Given the description of an element on the screen output the (x, y) to click on. 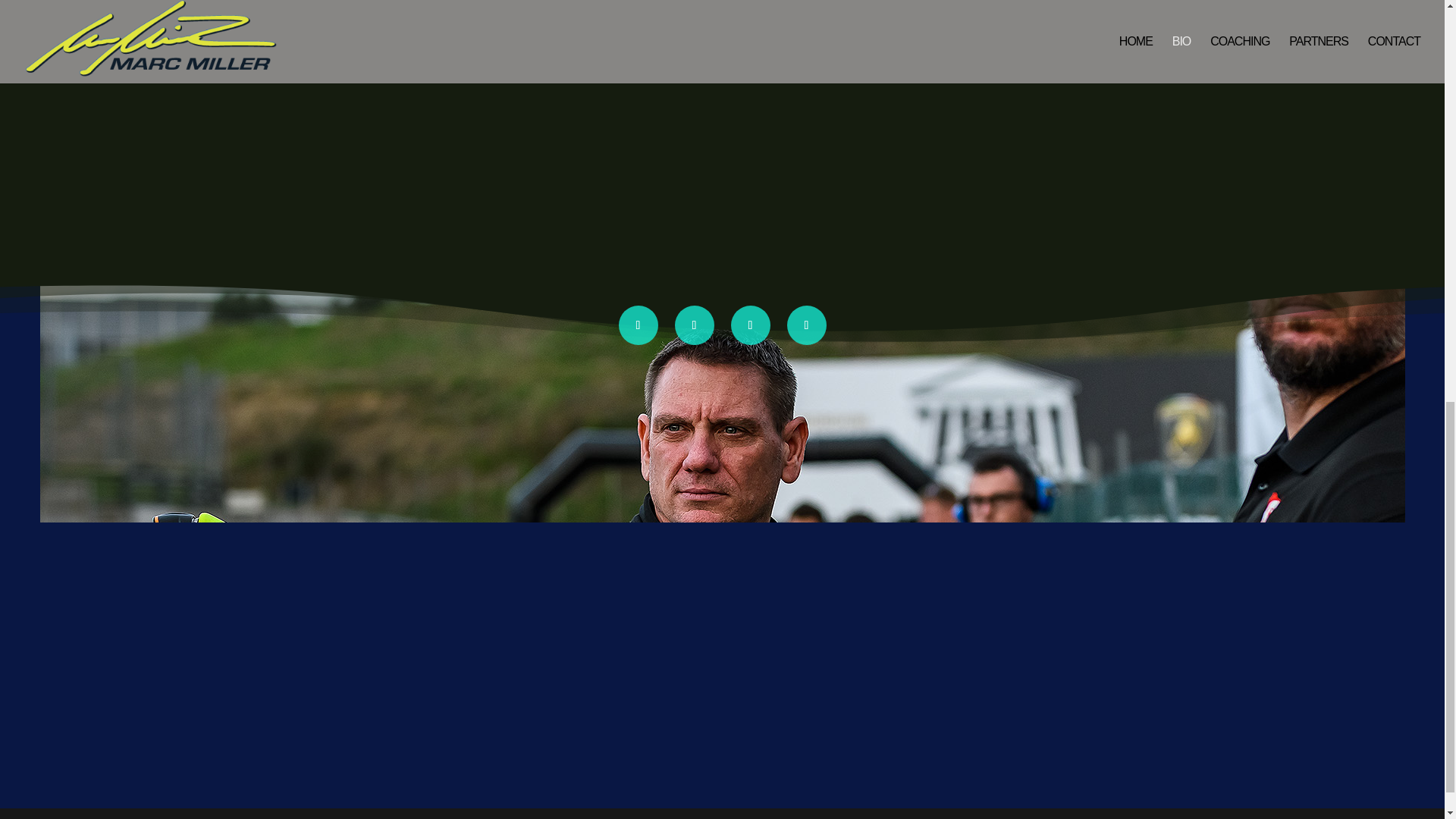
Follow on Facebook (638, 324)
Follow on Youtube (807, 324)
Follow on X (694, 324)
Follow on Instagram (750, 324)
